Given the description of an element on the screen output the (x, y) to click on. 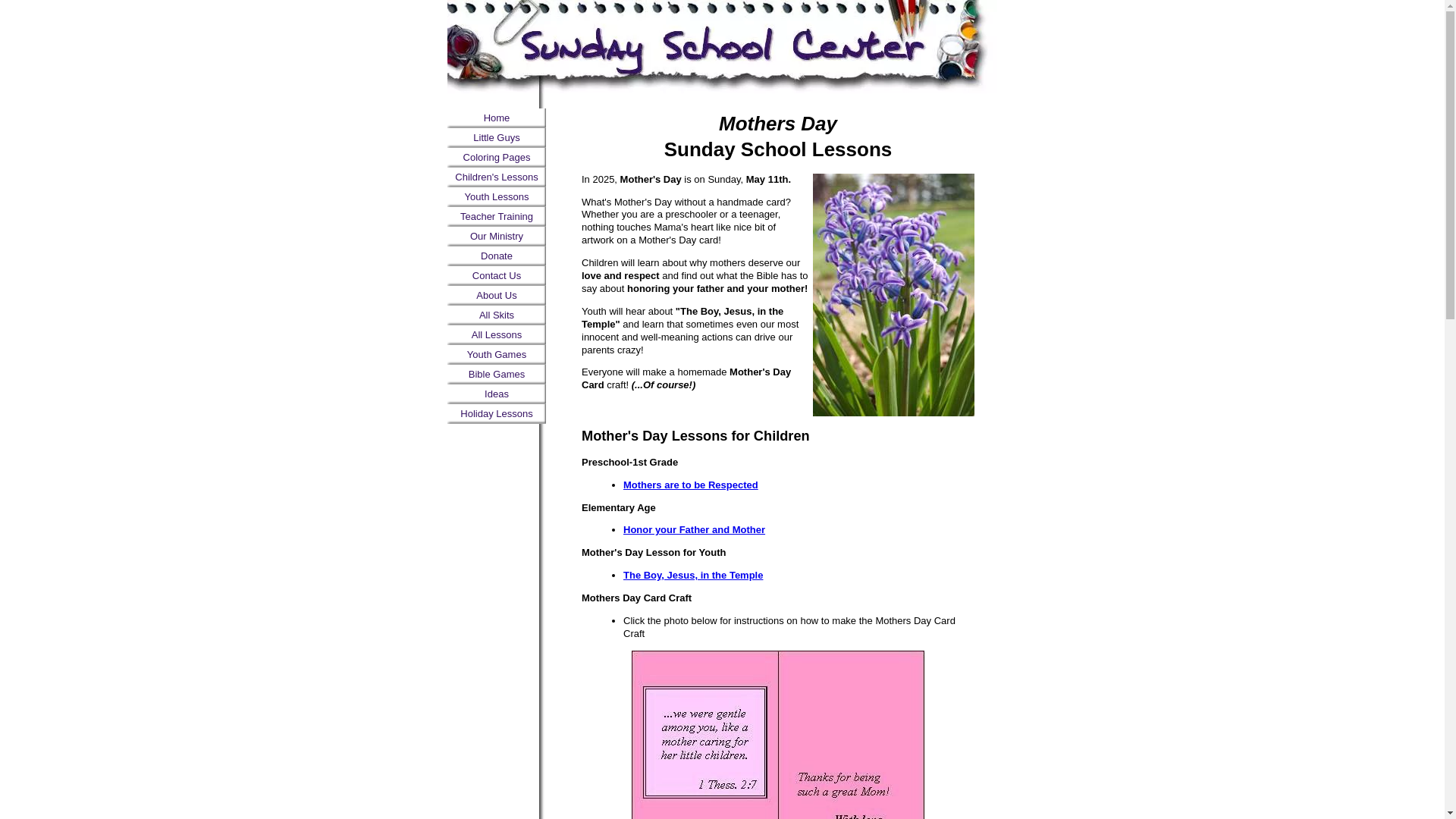
Children's Lessons (496, 177)
Coloring Pages (496, 157)
Youth Games (496, 354)
All Lessons (496, 334)
Little Guys (496, 137)
Youth Lessons (496, 197)
Ideas (496, 394)
About Us (496, 295)
Contact Us (496, 275)
Donate (496, 256)
